Given the description of an element on the screen output the (x, y) to click on. 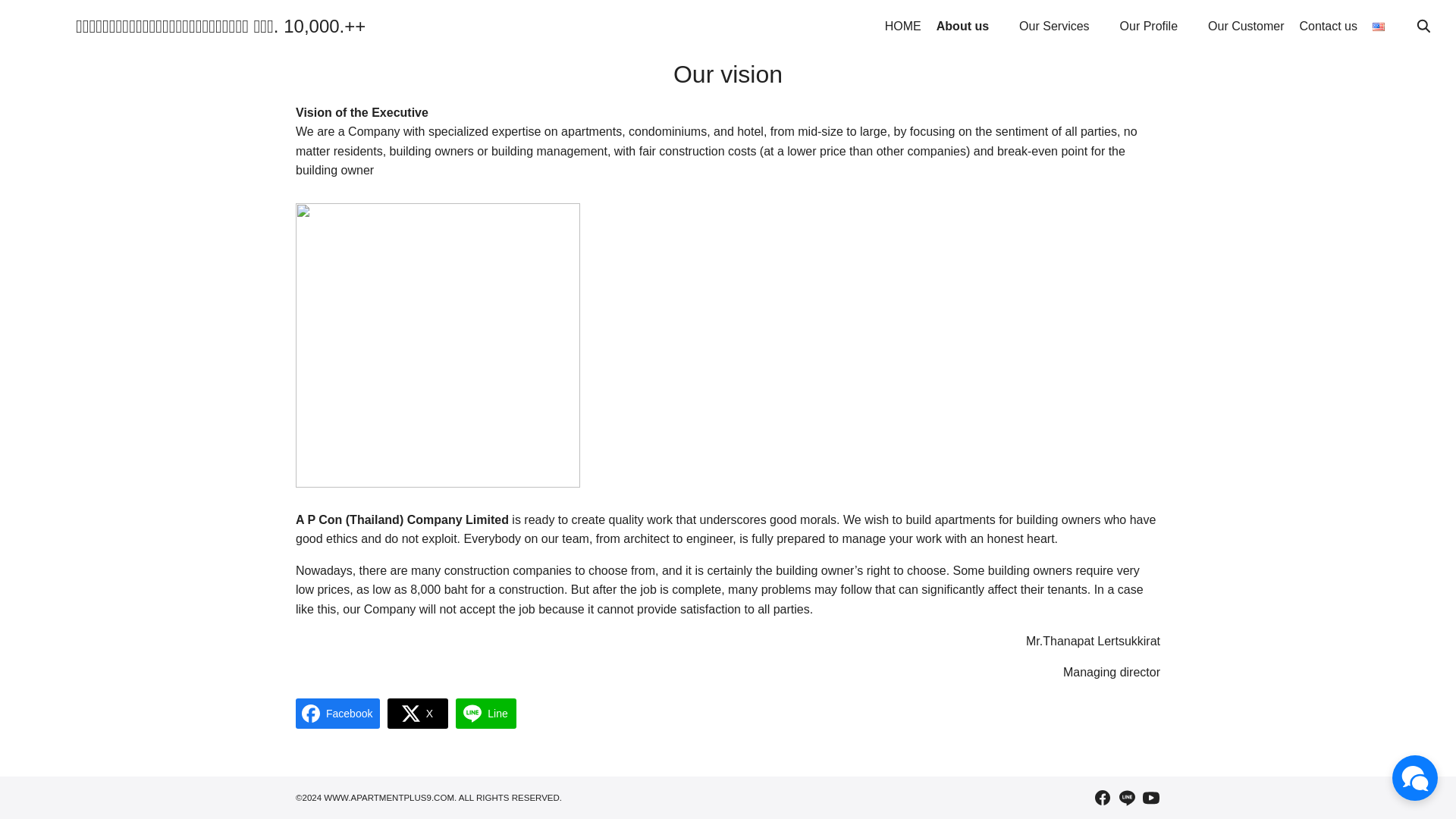
Our Services (1061, 26)
Our Profile (1155, 26)
Contact us (1328, 26)
Our Customer (1246, 26)
About us (970, 26)
